Given the description of an element on the screen output the (x, y) to click on. 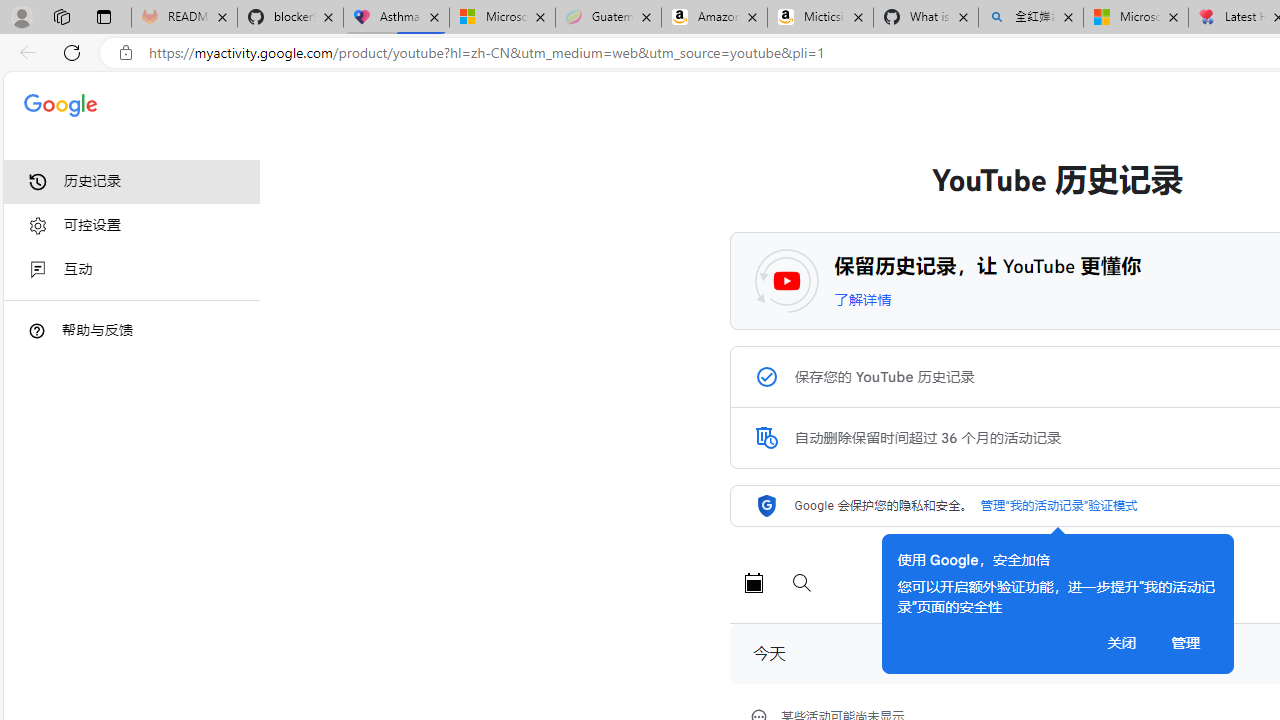
Class: i2GIId (38, 269)
Class: DTiKkd NMm5M (37, 330)
Class: k1qAtf NMm5M (766, 438)
Asthma Inhalers: Names and Types (396, 17)
